Given the description of an element on the screen output the (x, y) to click on. 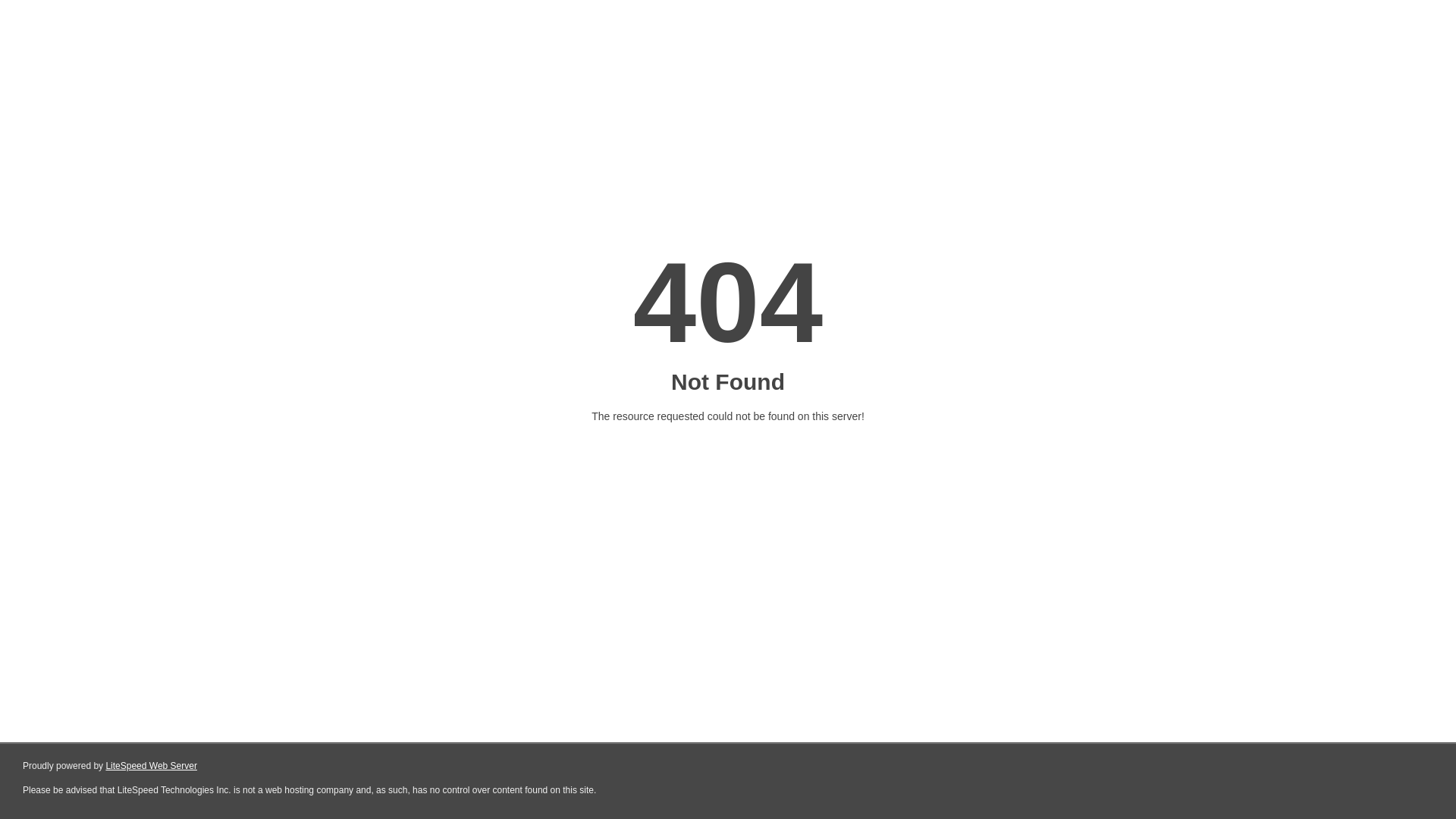
LiteSpeed Web Server Element type: text (151, 765)
